Given the description of an element on the screen output the (x, y) to click on. 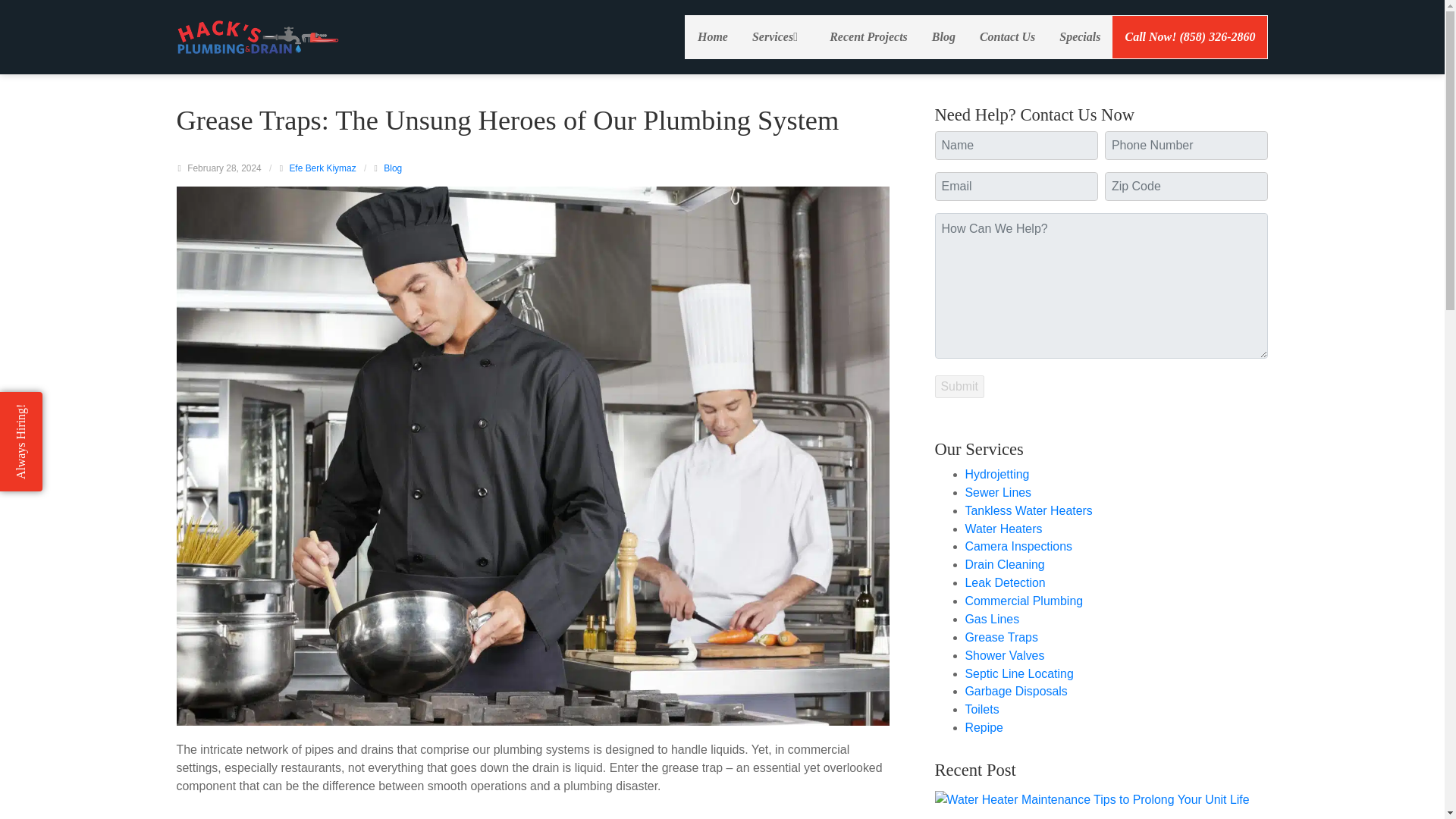
Home (712, 36)
View all posts by Efe Berk Kiymaz (321, 167)
Submit (959, 386)
Contact Us (1007, 36)
Hacks Plumbing and Drain (257, 36)
Services (777, 36)
Efe Berk Kiymaz (321, 167)
Hydrojetting (996, 473)
Blog (392, 167)
Recent Projects (868, 36)
Water Heater Maintenance Tips to Prolong Your Unit Life (1091, 798)
Submit (959, 386)
Blog (944, 36)
Specials (1079, 36)
